Given the description of an element on the screen output the (x, y) to click on. 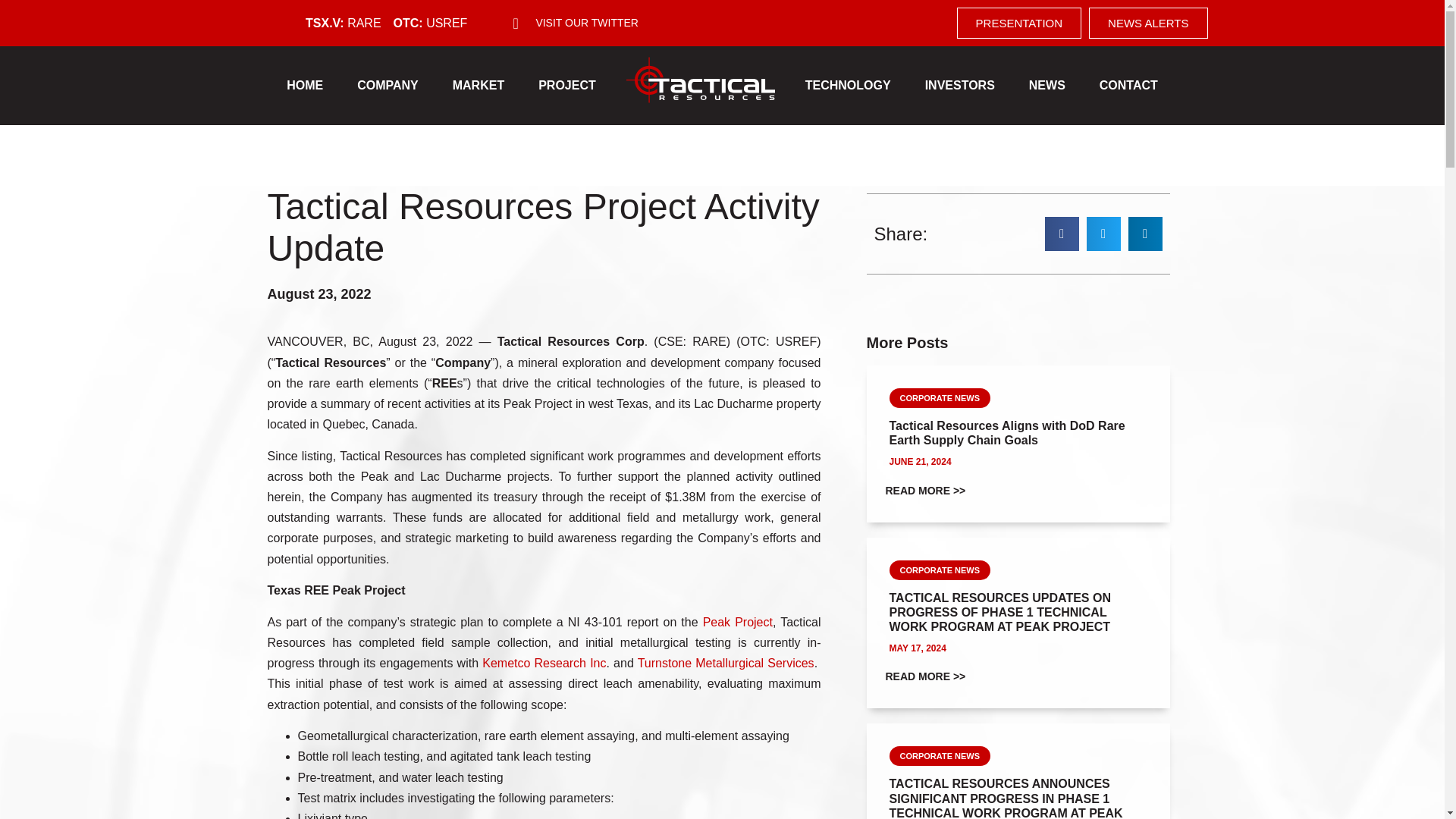
MARKET (478, 85)
TECHNOLOGY (847, 85)
PRESENTATION (1018, 22)
Turnstone Metallurgical Services (725, 662)
Kemetco Research Inc (543, 662)
COMPANY (387, 85)
OTC: USREF (430, 22)
INVESTORS (960, 85)
VISIT OUR TWITTER (575, 23)
CONTACT (1129, 85)
